Given the description of an element on the screen output the (x, y) to click on. 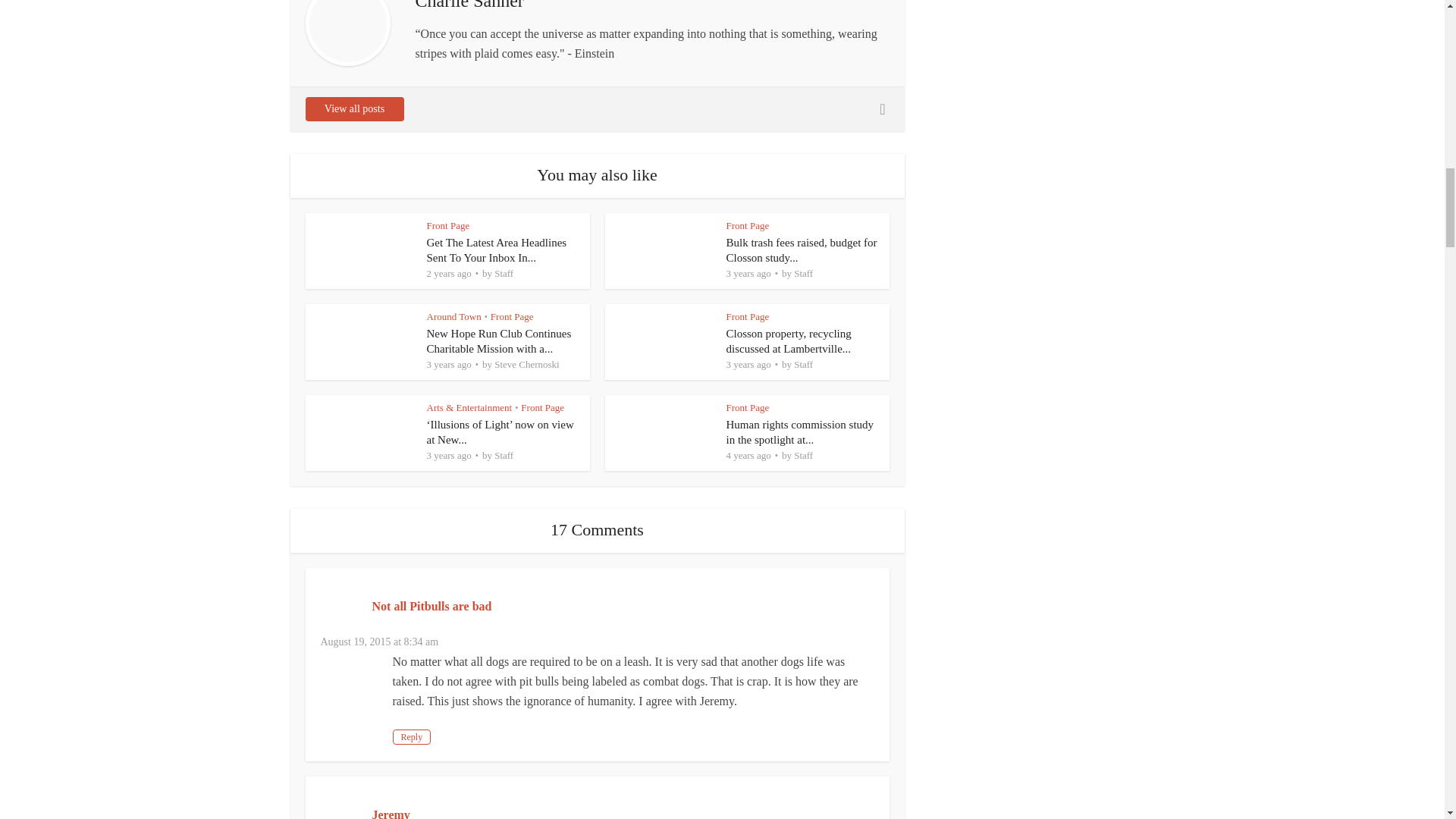
Get The Latest Area Headlines Sent To Your Inbox In... (496, 249)
View all posts (353, 109)
Front Page (447, 225)
Staff (504, 273)
Bulk trash fees raised, budget for Closson study... (801, 249)
New Hope Run Club Continues Charitable Mission with a... (498, 340)
Steve Chernoski (527, 364)
Front Page (748, 316)
Get The Latest Area Headlines Sent To Your Inbox In 2023! (496, 249)
Staff (802, 273)
Around Town (453, 316)
Front Page (748, 225)
Front Page (512, 316)
